Given the description of an element on the screen output the (x, y) to click on. 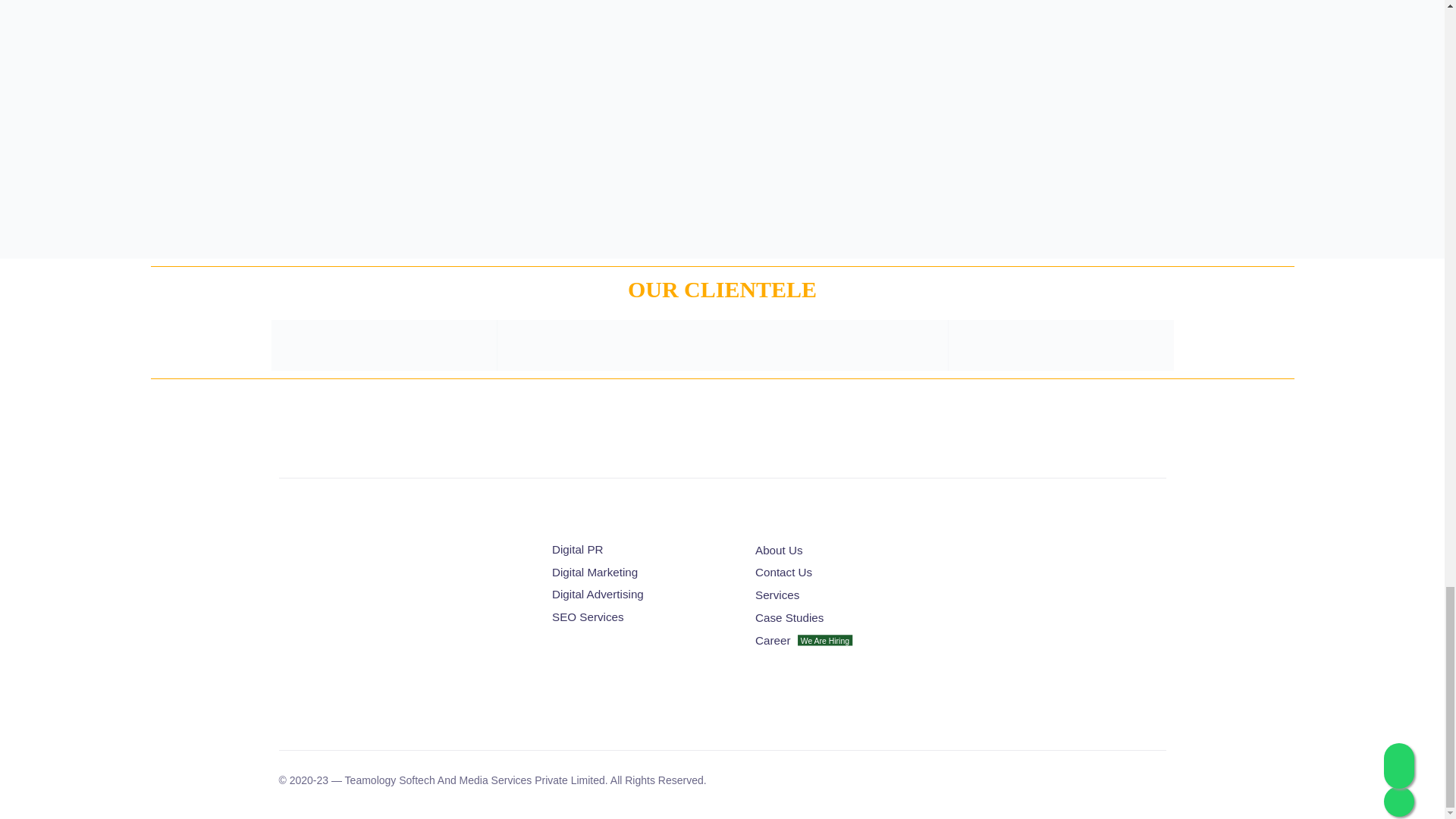
Contact Us (849, 572)
About Us (849, 550)
SEO Services (640, 617)
Digital Advertising (640, 594)
Services (849, 595)
Digital PR (640, 549)
Case Studies (849, 617)
CareerWe Are Hiring (849, 639)
Digital Marketing (640, 572)
